Given the description of an element on the screen output the (x, y) to click on. 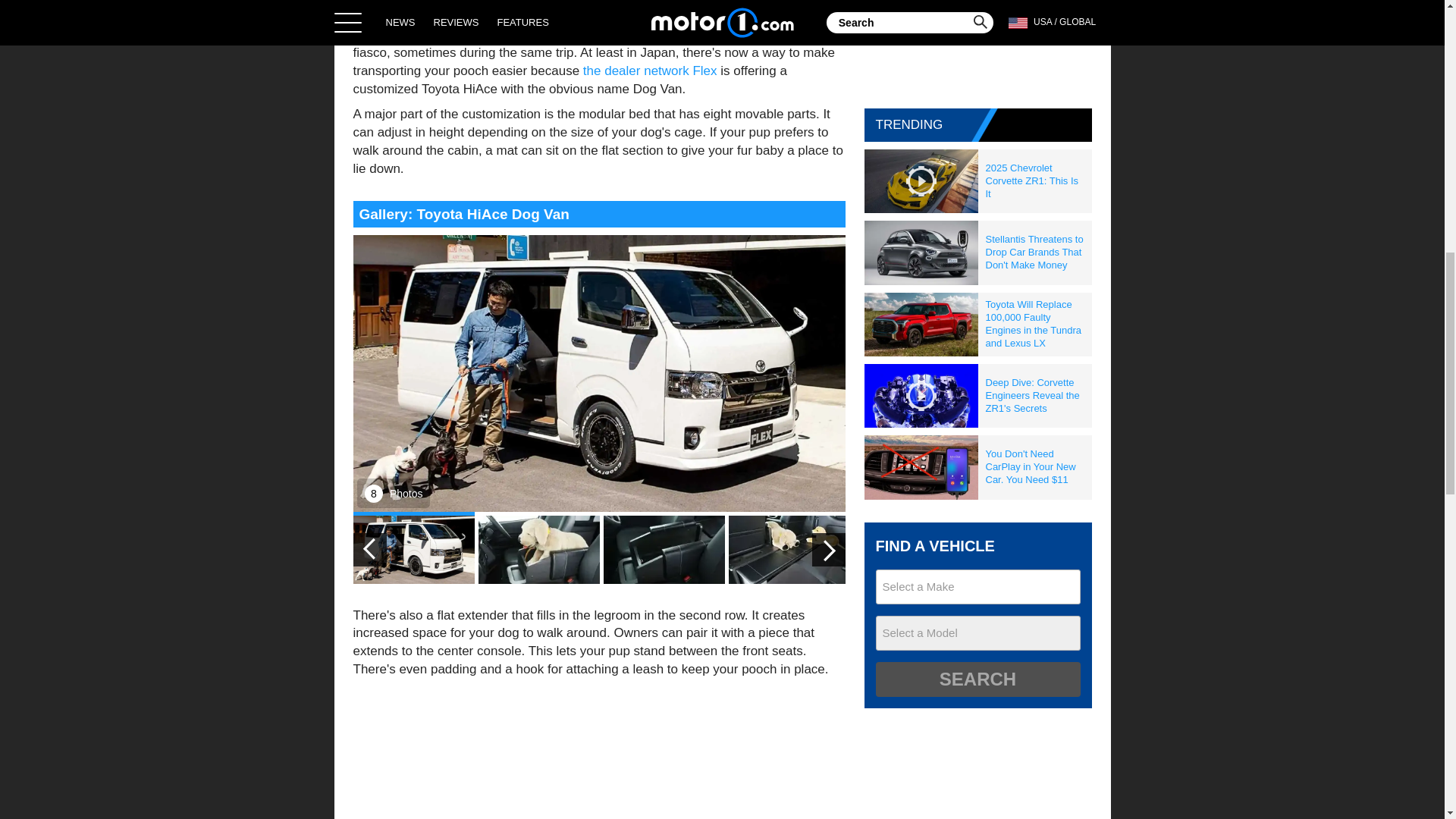
Search (977, 678)
the dealer network Flex (650, 70)
